Given the description of an element on the screen output the (x, y) to click on. 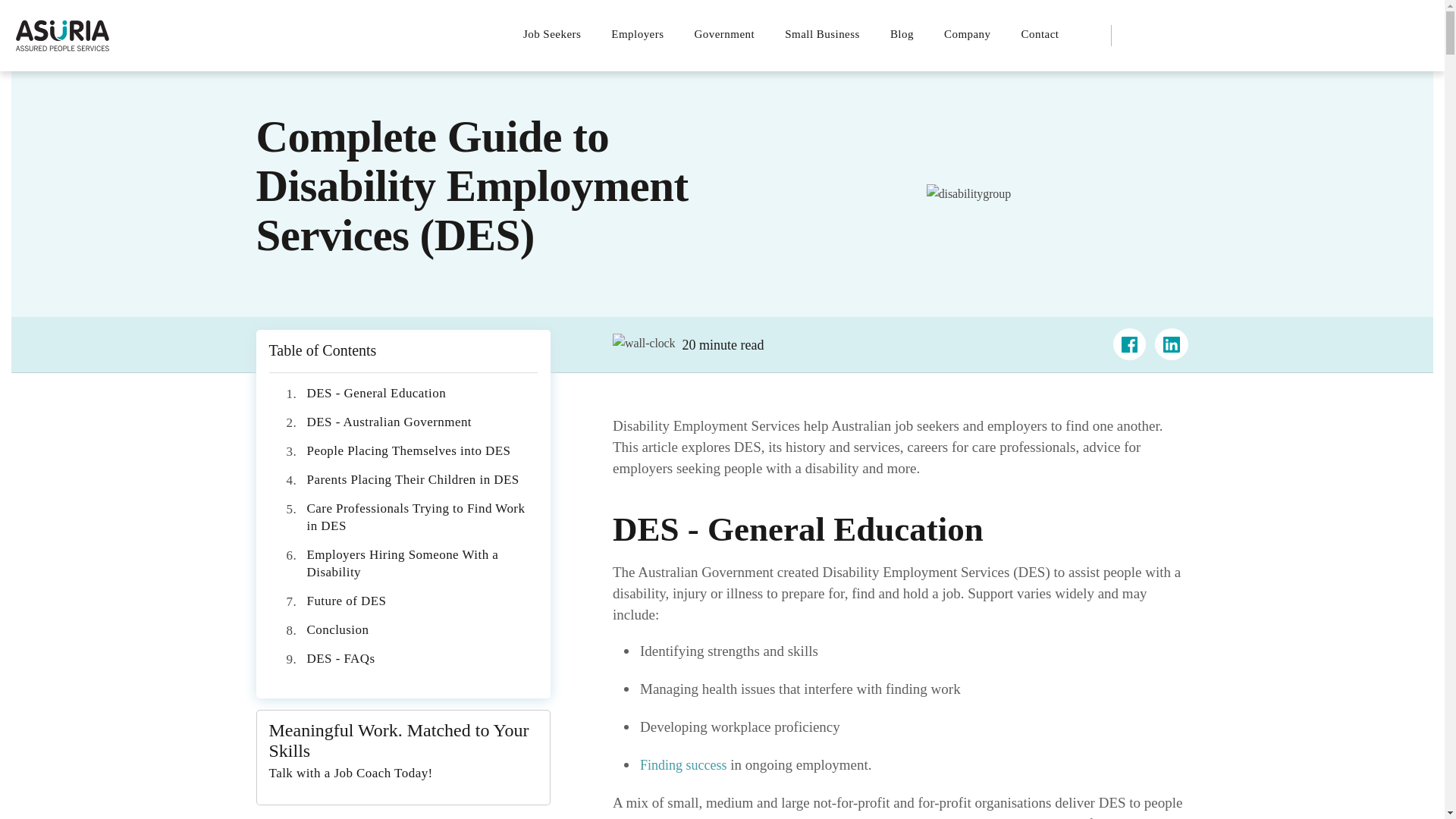
ASURIA logo col pos (62, 34)
Conclusion (336, 629)
Job Seekers (558, 33)
Future of DES (345, 600)
Company (967, 33)
Parents Placing Their Children in DES (411, 479)
Government (724, 33)
Employers Hiring Someone With a Disability (401, 563)
Contact (1040, 33)
DES - Australian Government (388, 421)
